Given the description of an element on the screen output the (x, y) to click on. 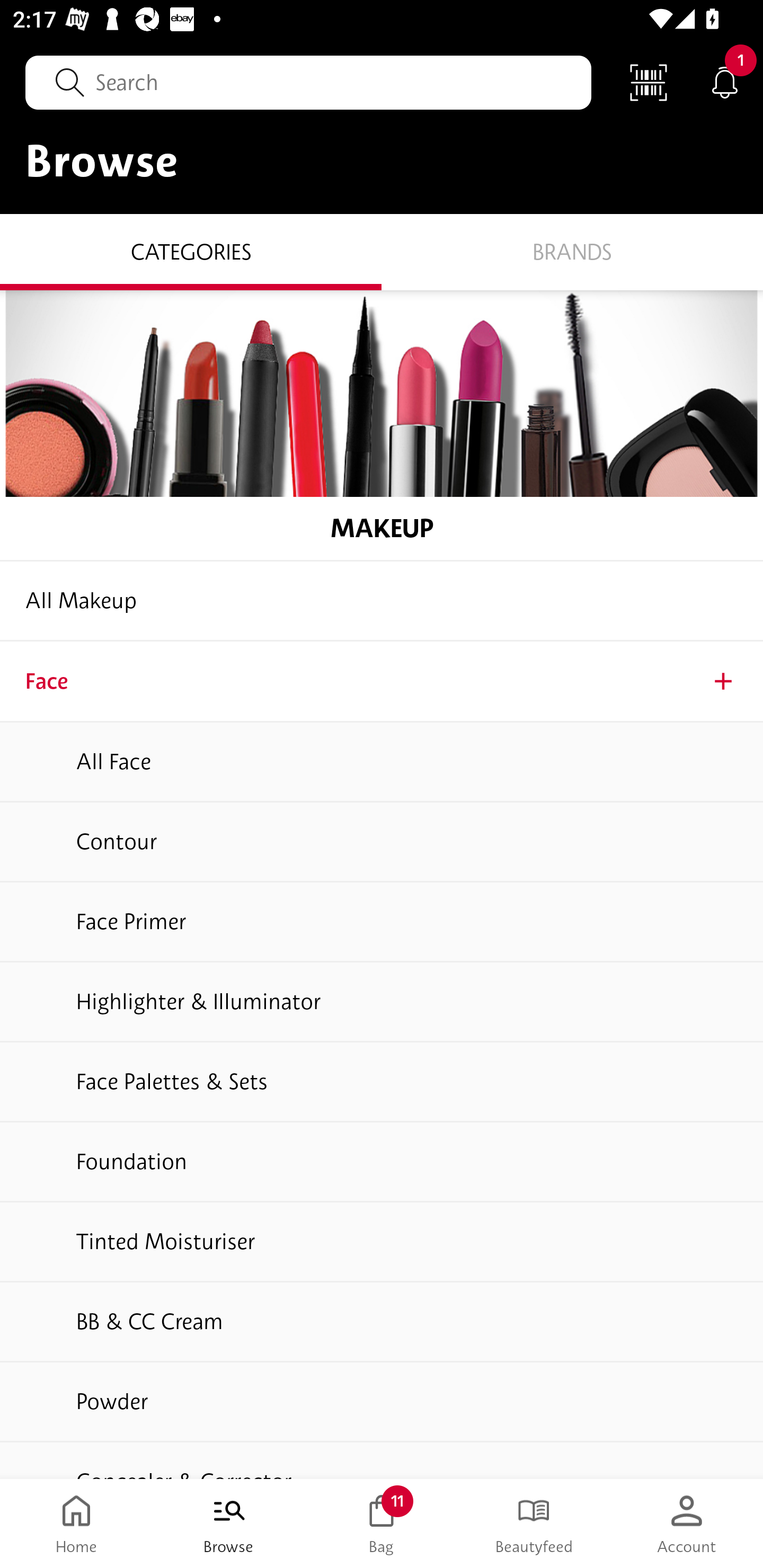
Scan Code (648, 81)
Notifications (724, 81)
Search (308, 81)
Brands BRANDS (572, 251)
All Makeup (381, 601)
All Face (381, 762)
Contour (381, 842)
Face Primer (381, 922)
Highlighter & Illuminator (381, 1002)
Face Palettes & Sets (381, 1082)
Foundation (381, 1162)
Tinted Moisturiser (381, 1242)
BB & CC Cream (381, 1322)
Powder (381, 1402)
Home (76, 1523)
Bag 11 Bag (381, 1523)
Beautyfeed (533, 1523)
Account (686, 1523)
